Given the description of an element on the screen output the (x, y) to click on. 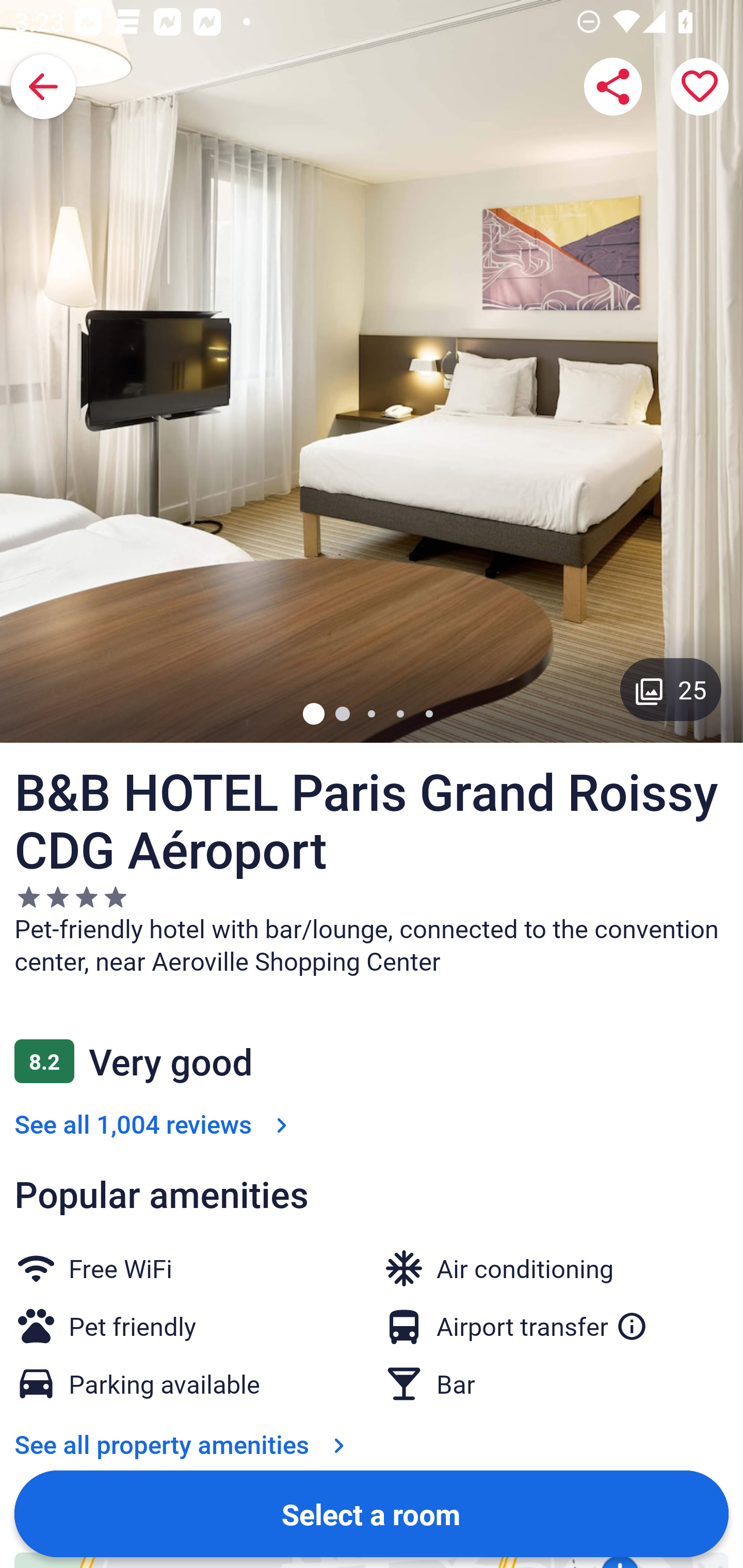
Back (43, 86)
Save property to a trip (699, 86)
Share B&B HOTEL Paris Grand Roissy CDG Aéroport (612, 87)
Gallery button with 25 images (670, 689)
See all 1,004 reviews See all 1,004 reviews Link (154, 1123)
Airport transfer (541, 1322)
See all property amenities (183, 1444)
Select a room Button Select a room (371, 1513)
